Given the description of an element on the screen output the (x, y) to click on. 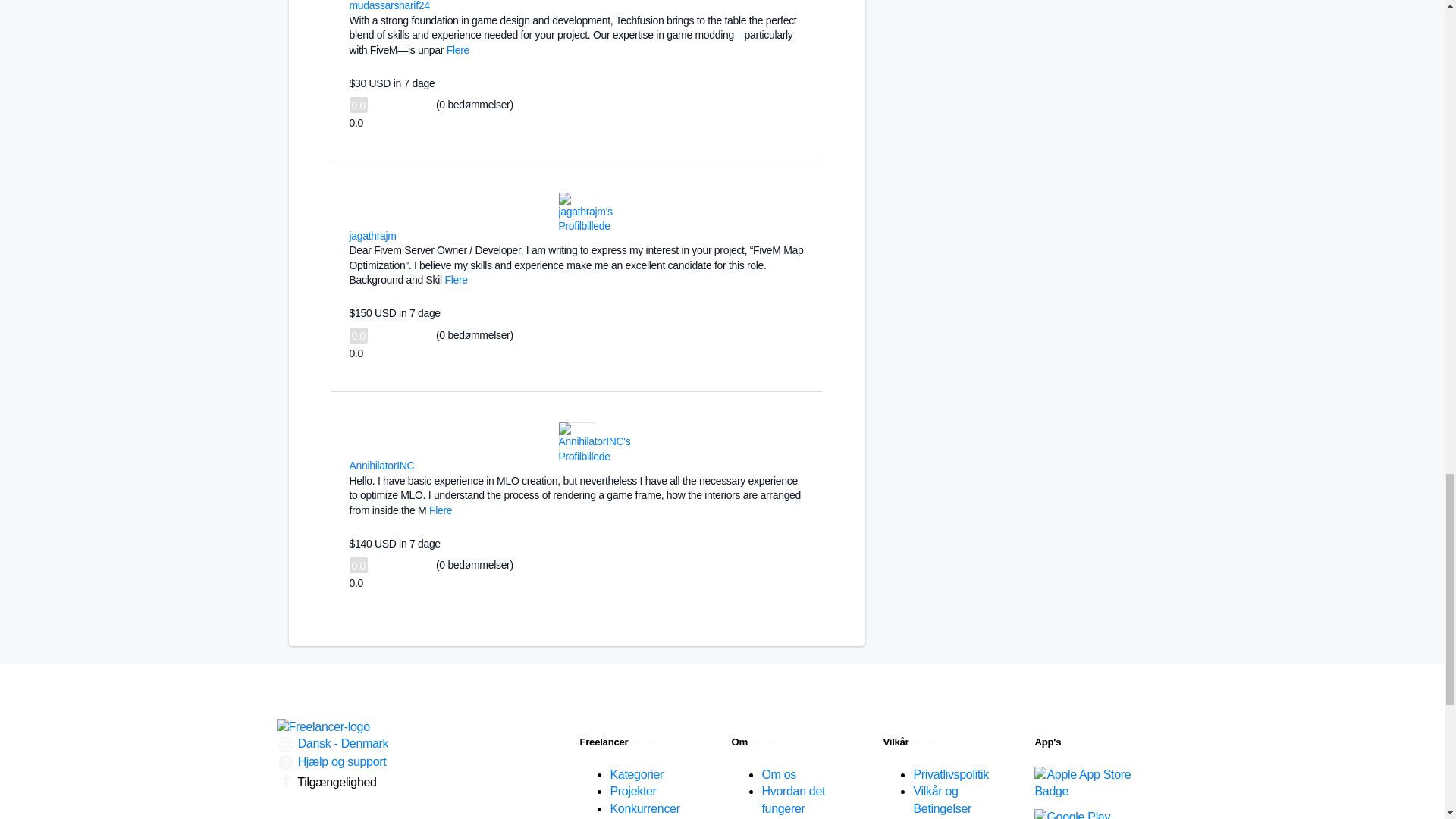
Download fra AppStore (1085, 781)
Se mudassarsharif24's Profil (601, 1)
Poland (423, 464)
Flere (457, 50)
Flere (455, 279)
jagathrajm (372, 235)
Flere (440, 510)
India (405, 234)
Se AnnihilatorINC's Profil (593, 456)
Se jagathrajm's Profil (584, 225)
